Given the description of an element on the screen output the (x, y) to click on. 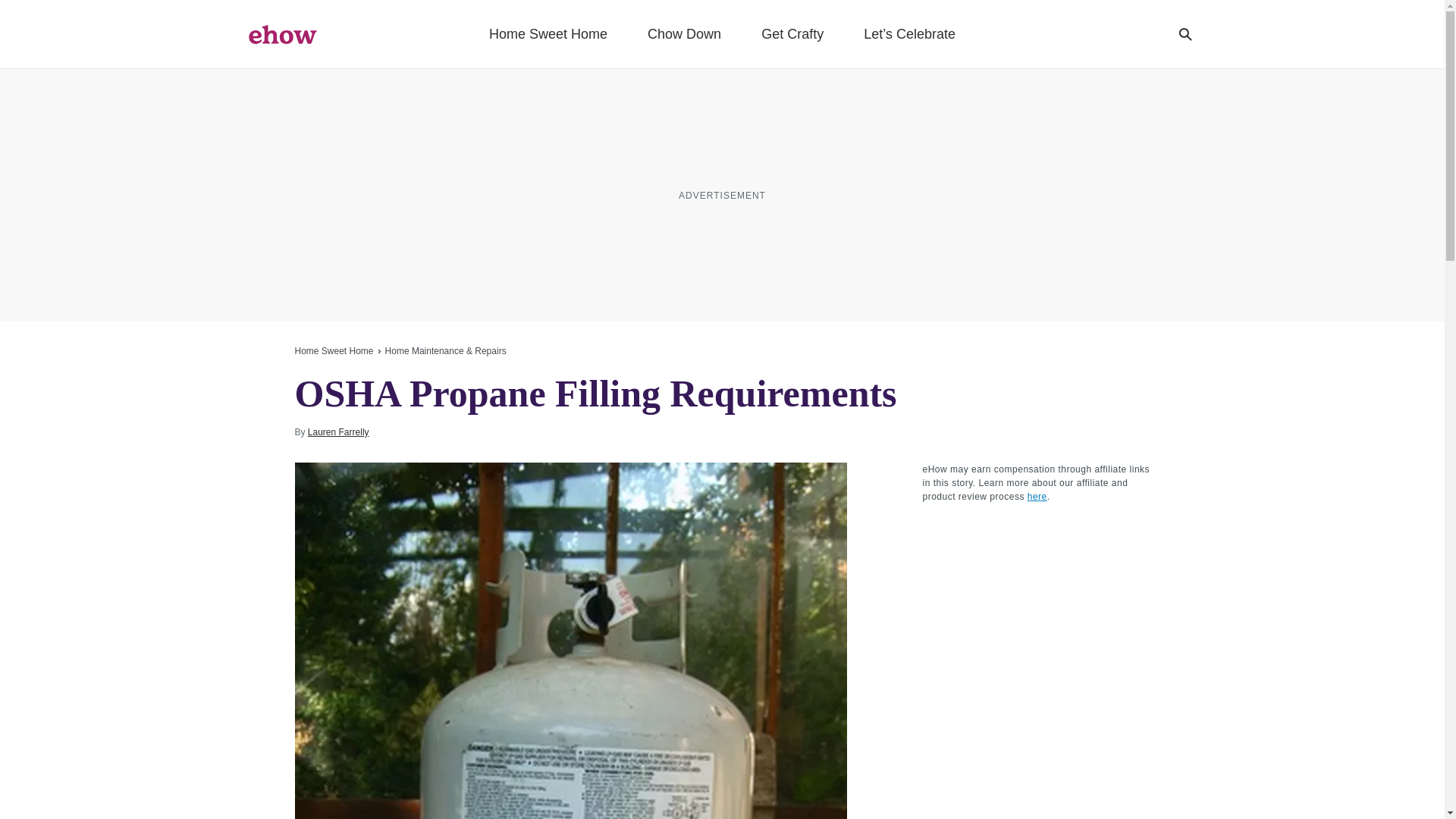
Learn more about our affiliate and product review process (1036, 496)
